Given the description of an element on the screen output the (x, y) to click on. 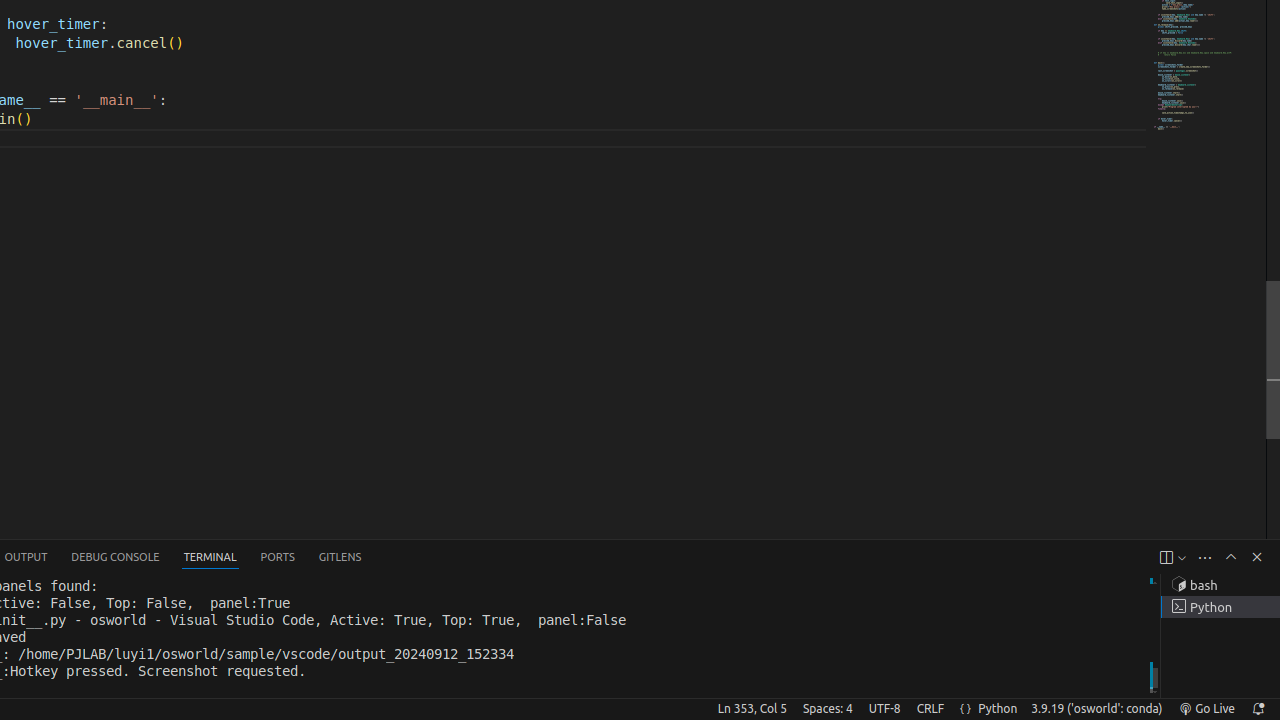
New Terminal (Ctrl+Shift+`) [Alt] Split Terminal (Ctrl+Shift+5) Element type: push-button (1166, 557)
Maximize Panel Size Element type: check-box (1231, 557)
Notifications Element type: push-button (1258, 709)
UTF-8 Element type: push-button (884, 709)
Ln 353, Col 5 Element type: push-button (752, 709)
